Given the description of an element on the screen output the (x, y) to click on. 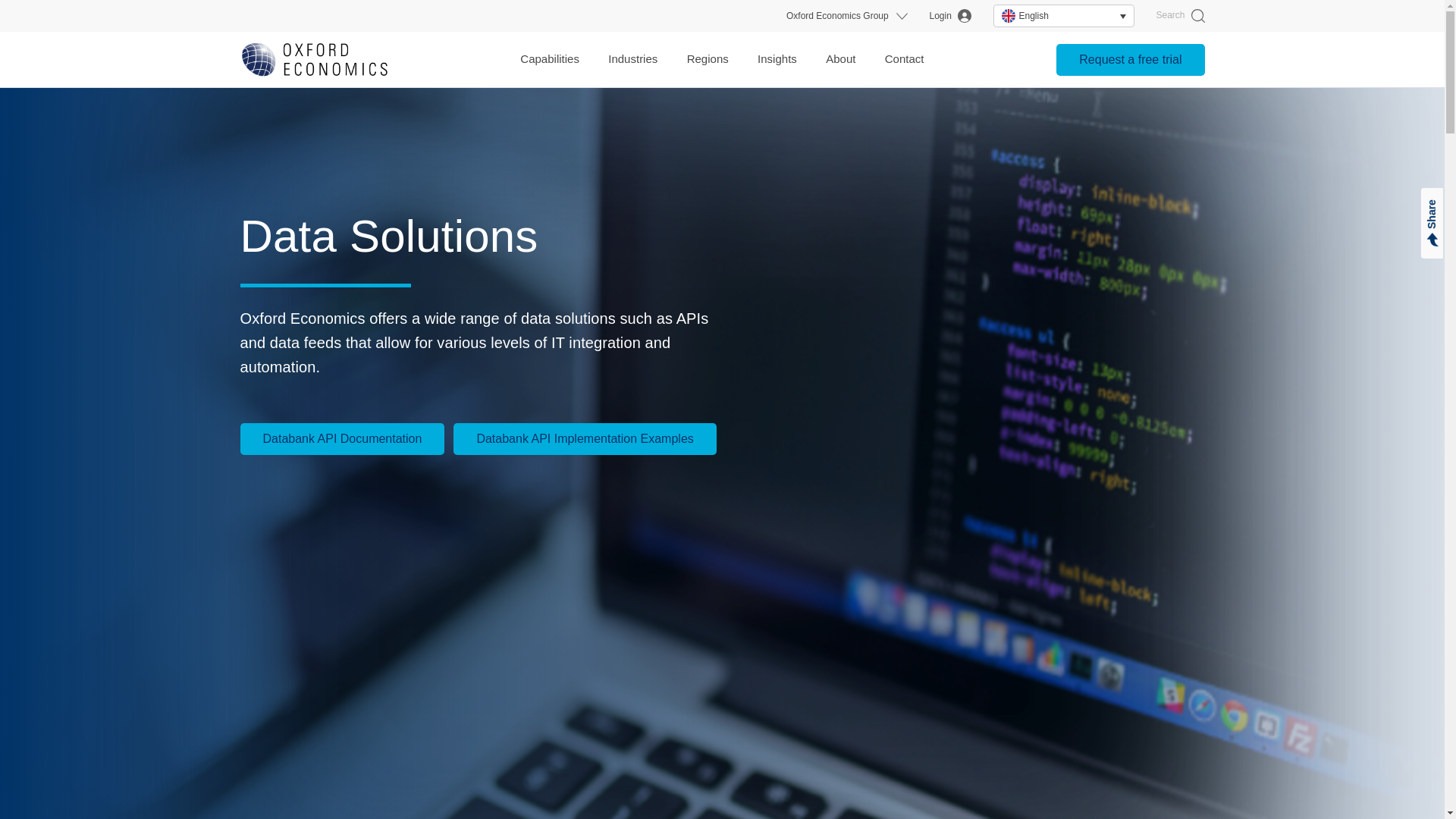
Login (950, 15)
English (1063, 15)
Oxford Economics Group (837, 15)
Capabilities (549, 58)
Search (1180, 15)
